Given the description of an element on the screen output the (x, y) to click on. 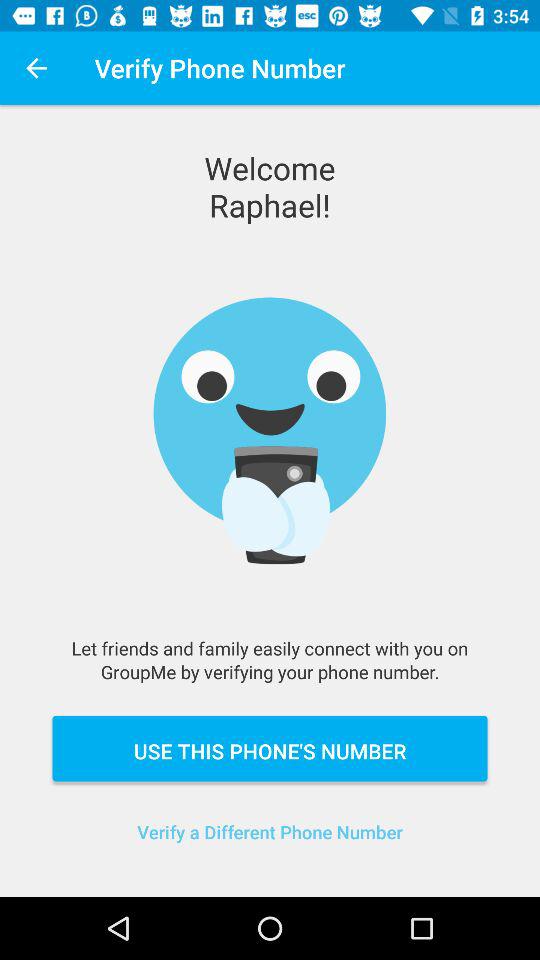
select the icon above the welcome
raphael! item (36, 68)
